Given the description of an element on the screen output the (x, y) to click on. 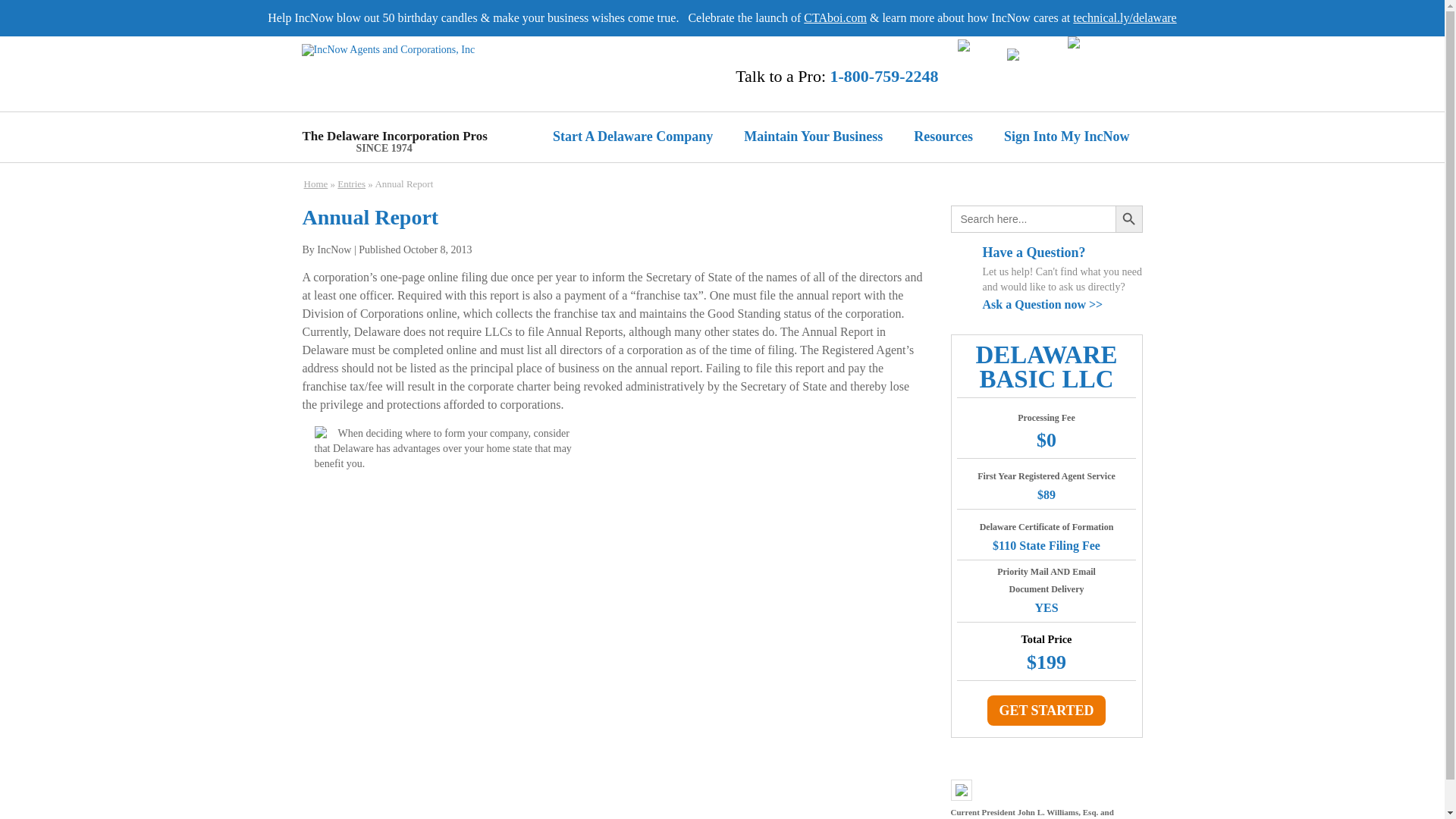
Start A Delaware Company (639, 136)
Maintain Your Business (819, 136)
CTAboi.com (834, 17)
1-800-759-2248 (884, 75)
Sign Into My IncNow (1073, 136)
Resources (949, 136)
